Given the description of an element on the screen output the (x, y) to click on. 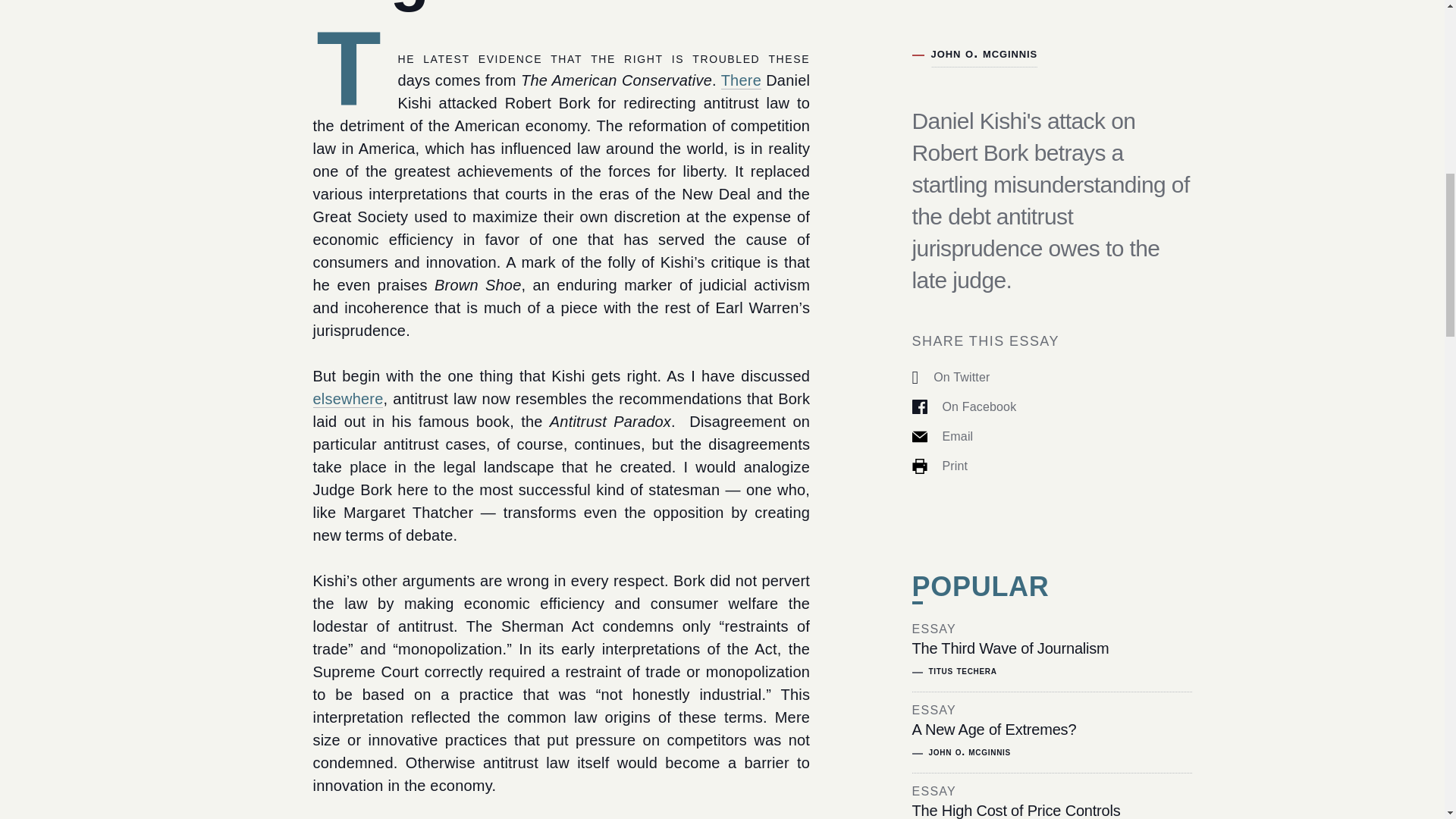
There (740, 80)
elsewhere (347, 398)
SEARCH (1143, 94)
